Given the description of an element on the screen output the (x, y) to click on. 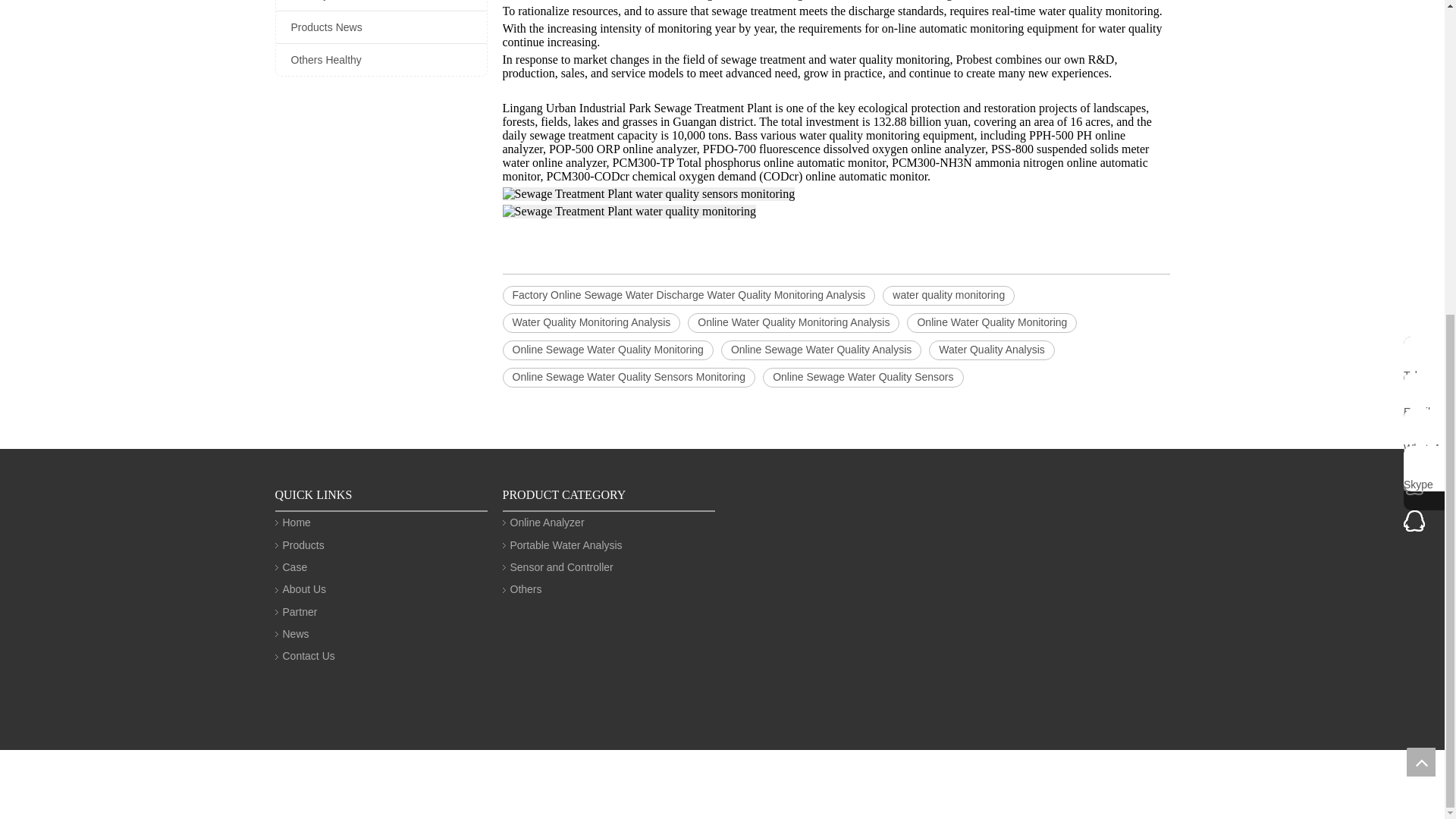
Others Healthy (381, 60)
Industry News (381, 5)
water quality monitoring (948, 295)
Sewage Treatment Plant water quality monitoring (628, 211)
Products News (381, 27)
